Given the description of an element on the screen output the (x, y) to click on. 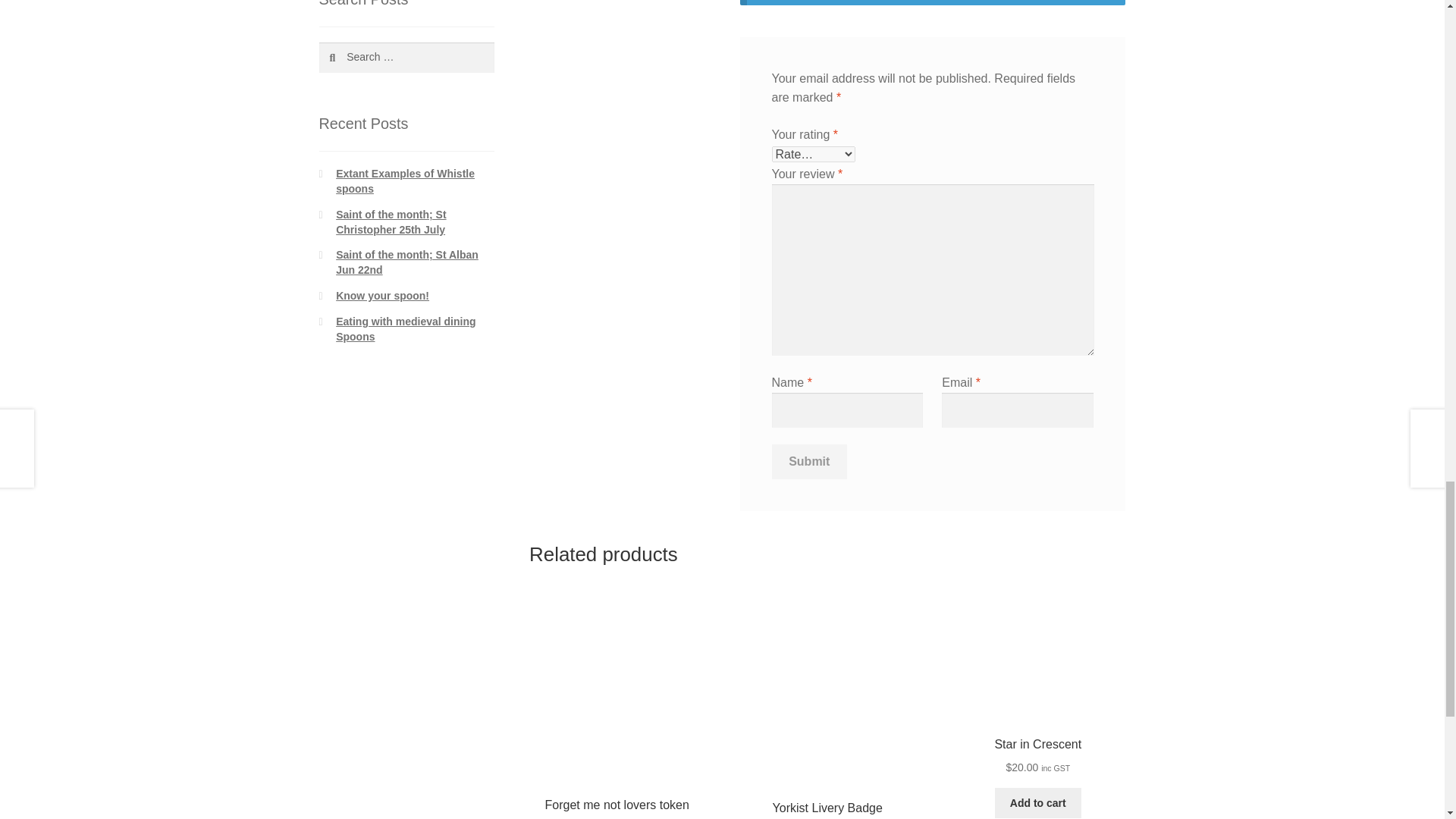
Submit (809, 461)
